Given the description of an element on the screen output the (x, y) to click on. 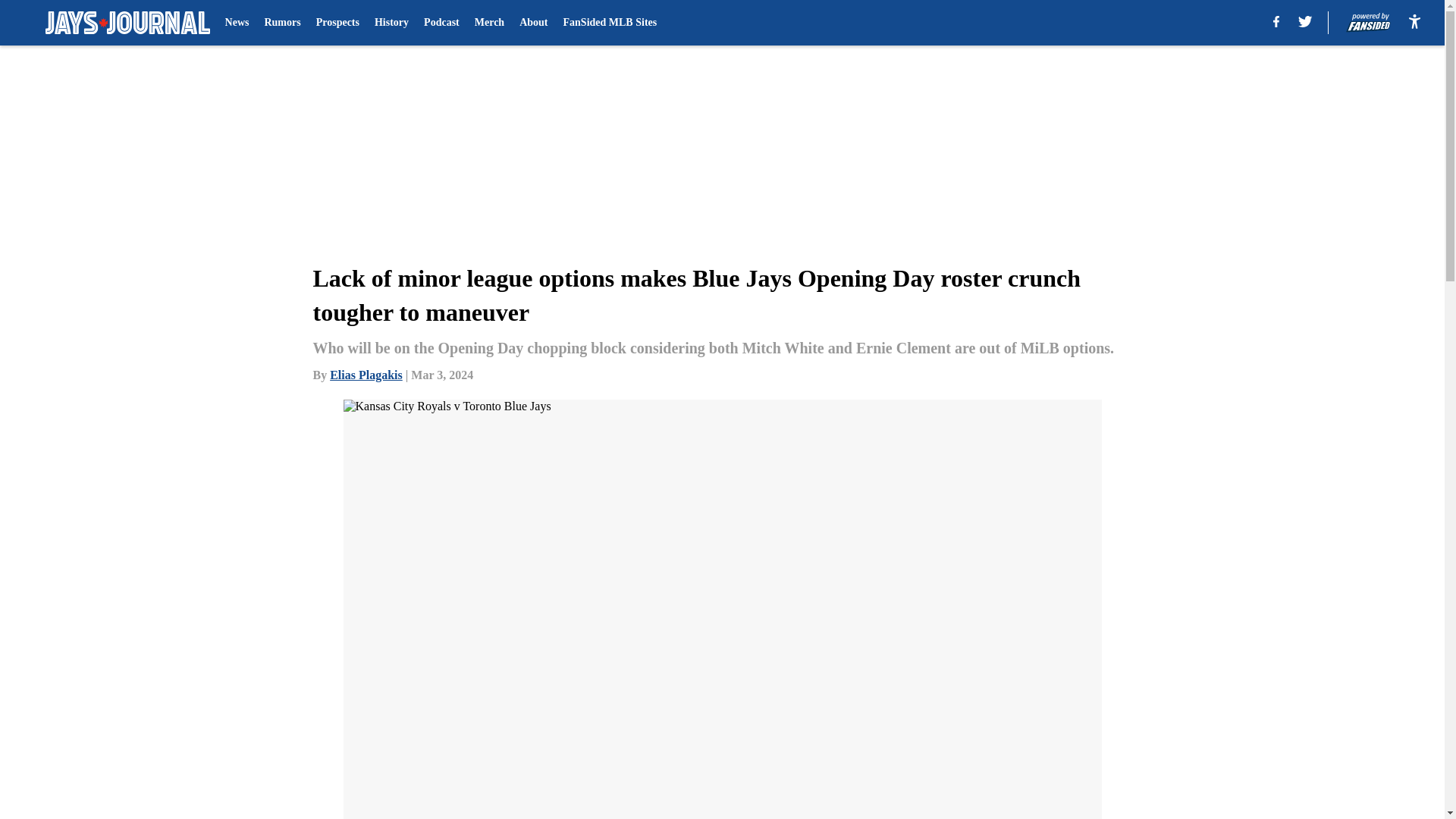
About (533, 22)
Elias Plagakis (366, 374)
Prospects (337, 22)
History (391, 22)
News (236, 22)
Rumors (281, 22)
Podcast (441, 22)
Merch (488, 22)
FanSided MLB Sites (610, 22)
